Given the description of an element on the screen output the (x, y) to click on. 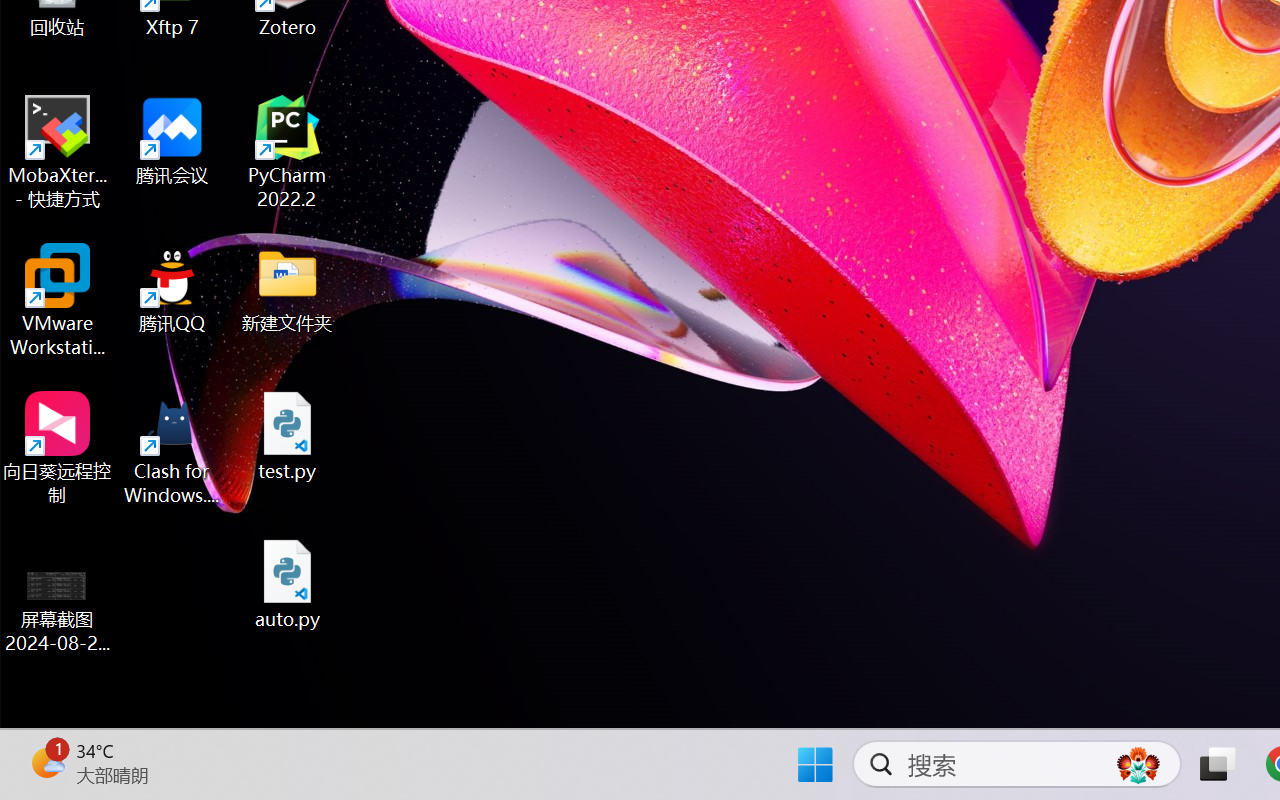
auto.py (287, 584)
PyCharm 2022.2 (287, 152)
test.py (287, 436)
